Given the description of an element on the screen output the (x, y) to click on. 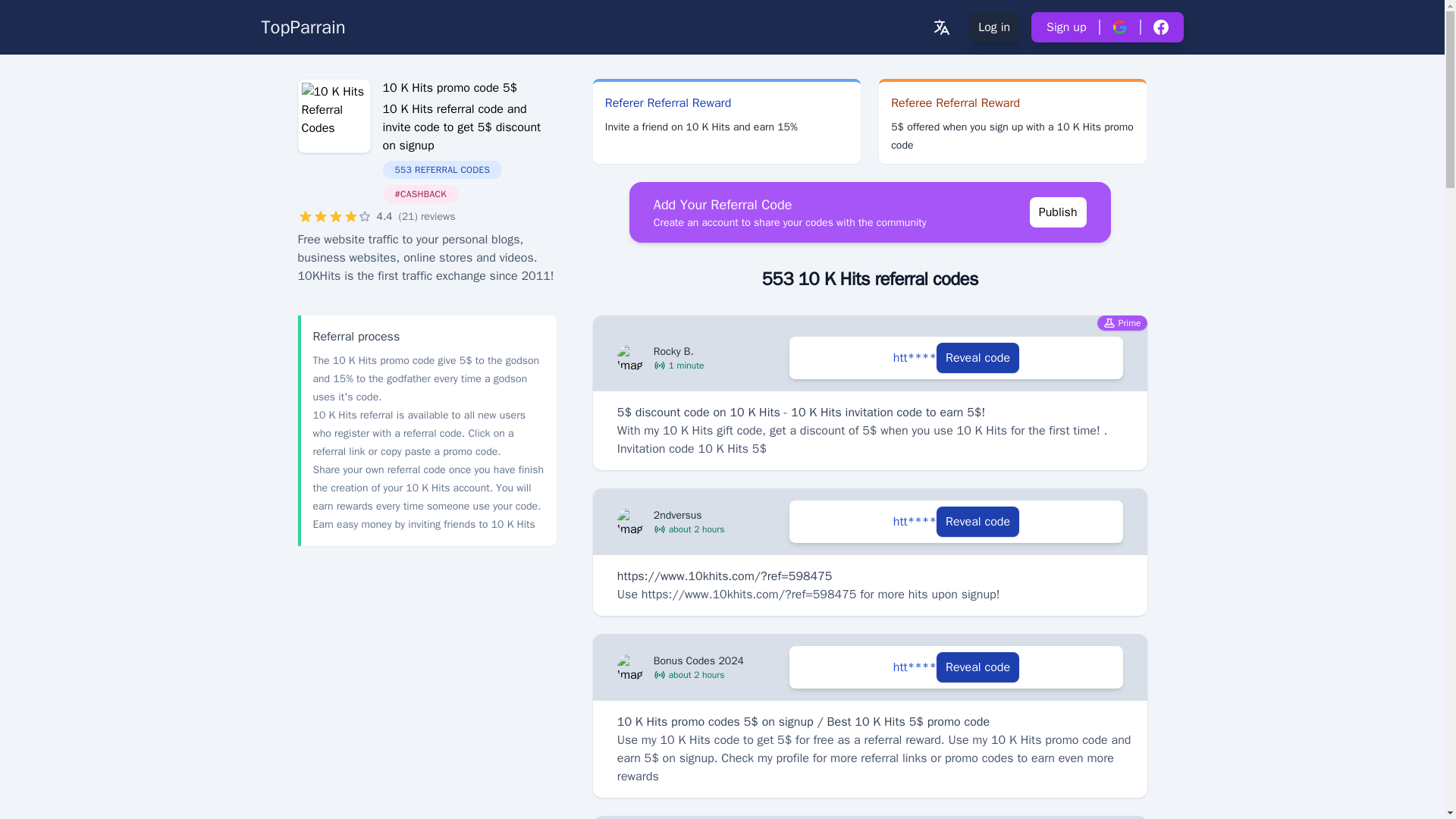
10 K Hits (333, 115)
Connect with Google (1118, 26)
Sign up (1065, 27)
Connect with Facebook (1159, 26)
Reveal code (977, 358)
553 REFERRAL CODES (468, 169)
Reveal code (977, 521)
Publish (1057, 212)
TopParrain (302, 27)
Reveal code (977, 666)
